Given the description of an element on the screen output the (x, y) to click on. 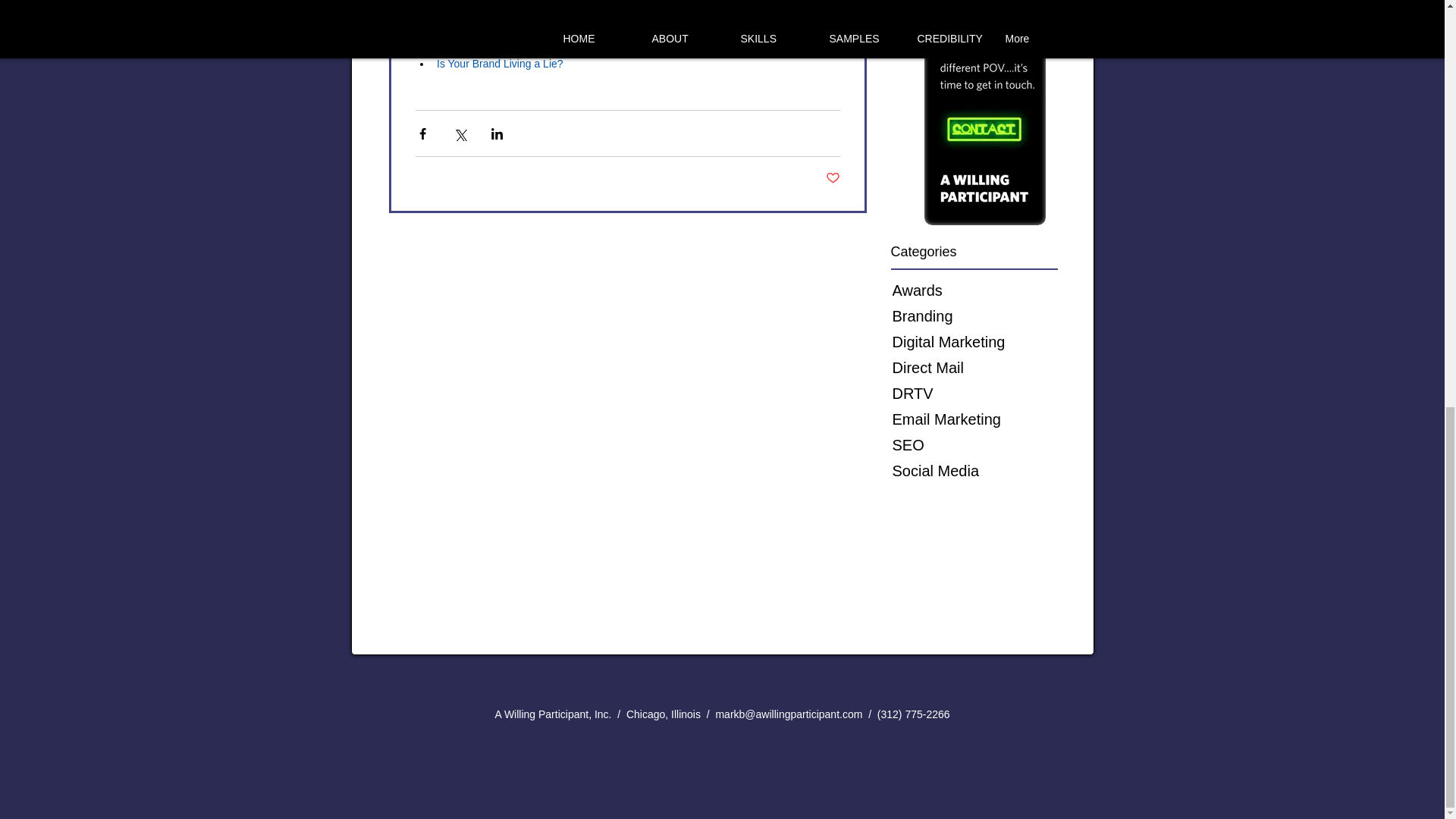
DRTV (982, 393)
Social Media (982, 470)
Post not marked as liked (832, 178)
Awards (982, 290)
SEO (982, 444)
Branding (982, 316)
Direct Mail (982, 367)
Digital Marketing (982, 341)
Email Marketing (982, 419)
Is Your Brand Living a Lie? (499, 63)
